Given the description of an element on the screen output the (x, y) to click on. 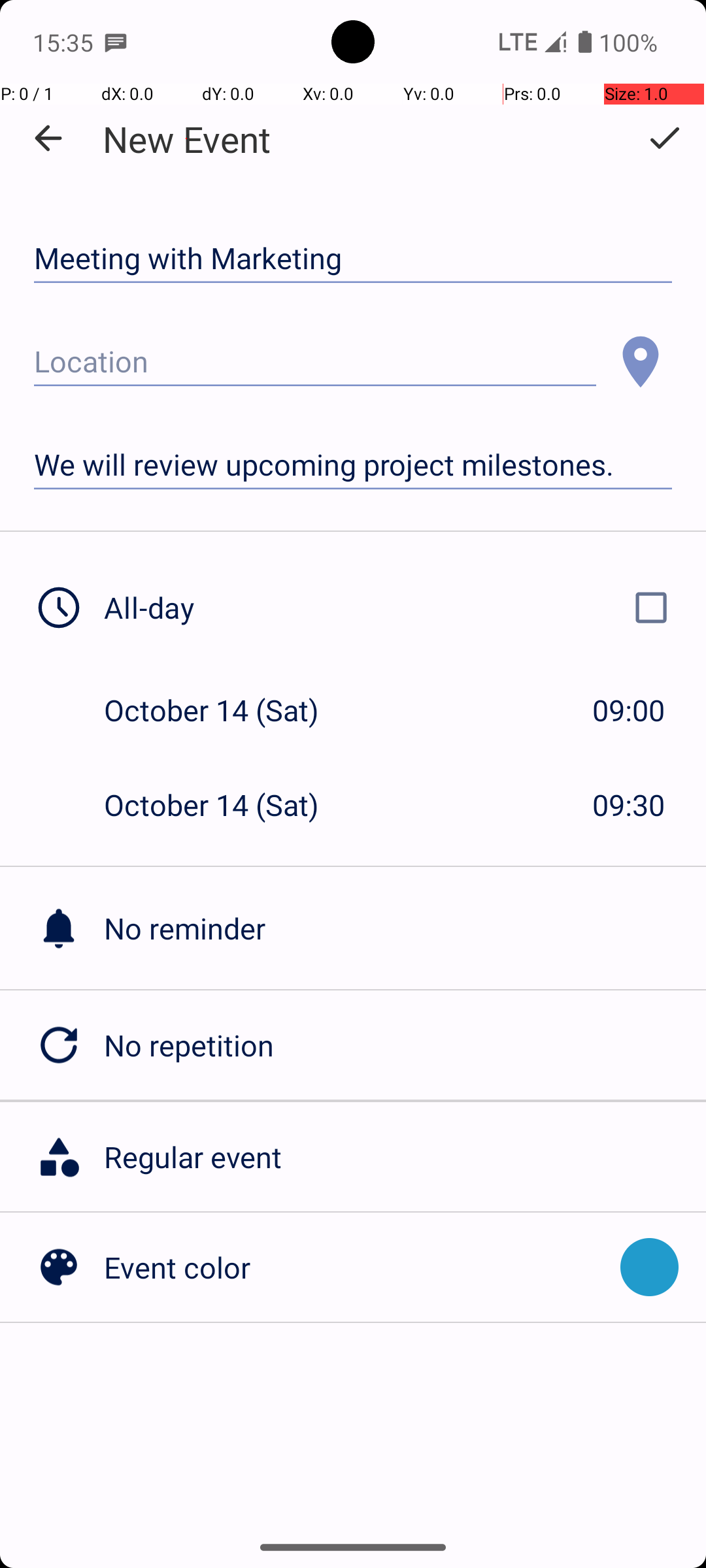
We will review upcoming project milestones. Element type: android.widget.EditText (352, 465)
October 14 (Sat) Element type: android.widget.TextView (224, 709)
09:30 Element type: android.widget.TextView (628, 804)
